Given the description of an element on the screen output the (x, y) to click on. 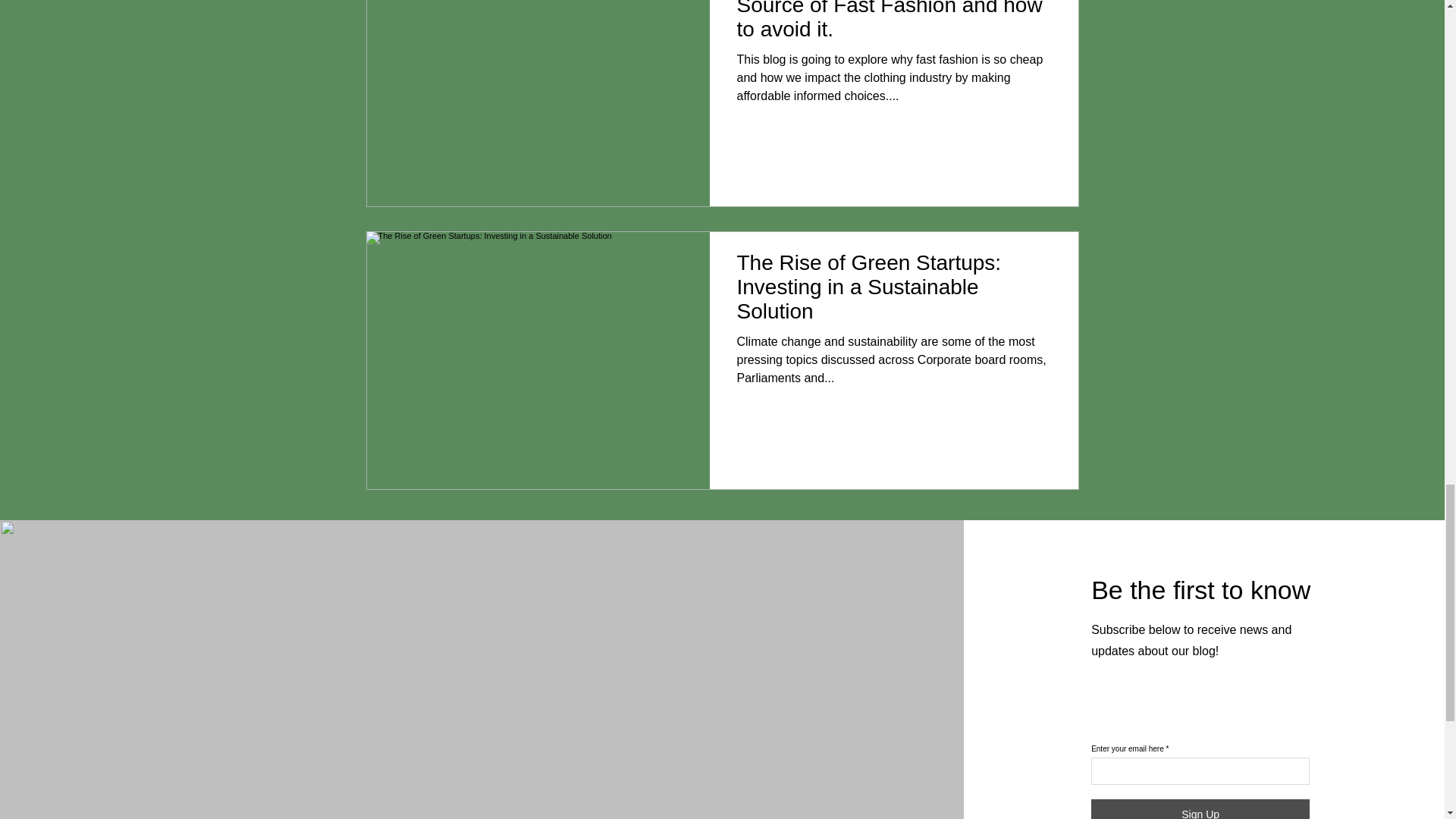
Sign Up (1199, 809)
